Given the description of an element on the screen output the (x, y) to click on. 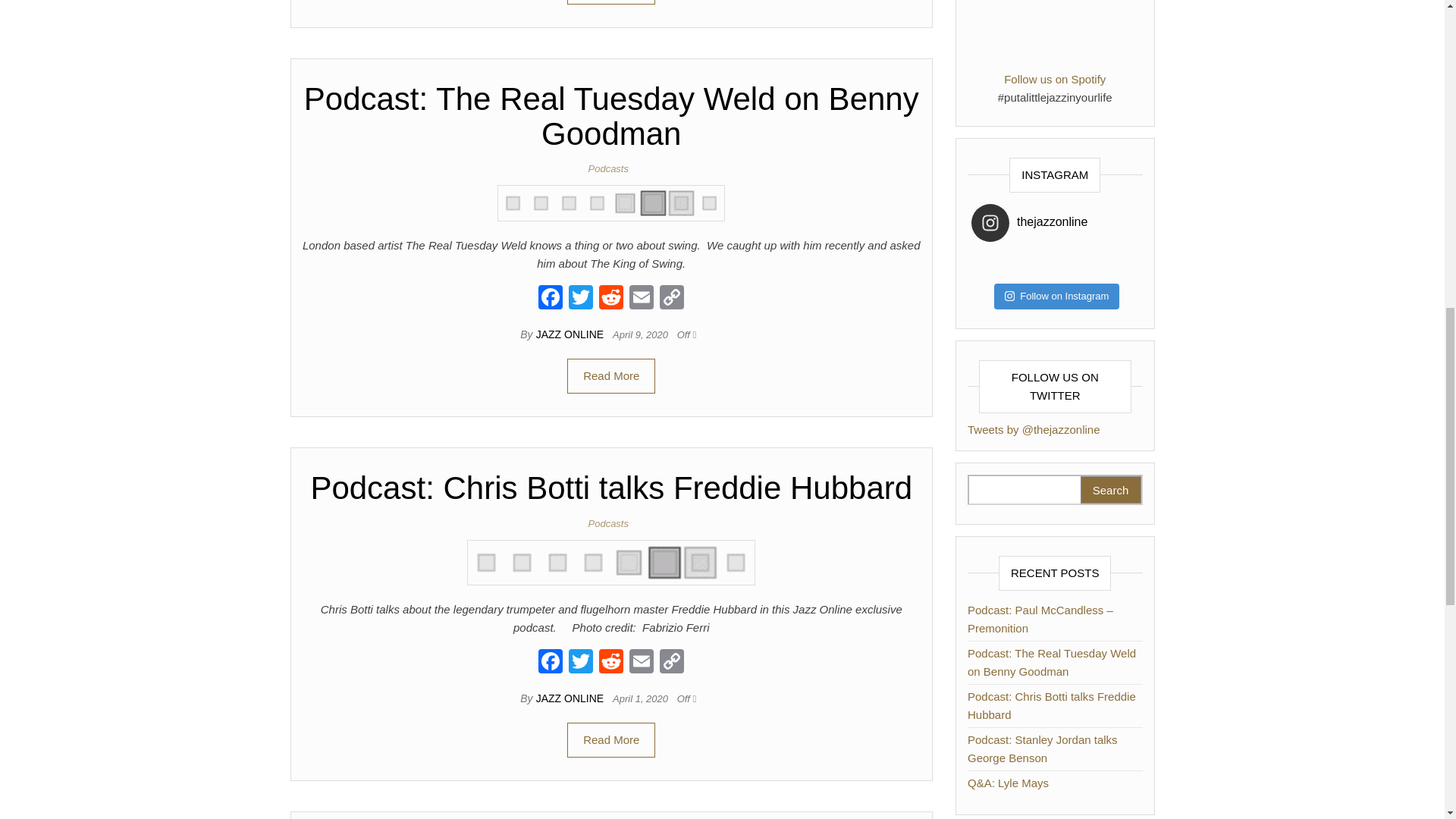
Search (1110, 489)
Facebook (550, 663)
Podcast: Chris Botti talks Freddie Hubbard (611, 488)
Email (641, 298)
JAZZ ONLINE (571, 698)
JAZZ ONLINE (571, 334)
Podcasts (611, 523)
Podcast: The Real Tuesday Weld on Benny Goodman (611, 201)
Podcast: The Real Tuesday Weld on Benny Goodman (611, 203)
Read More (611, 739)
